Given the description of an element on the screen output the (x, y) to click on. 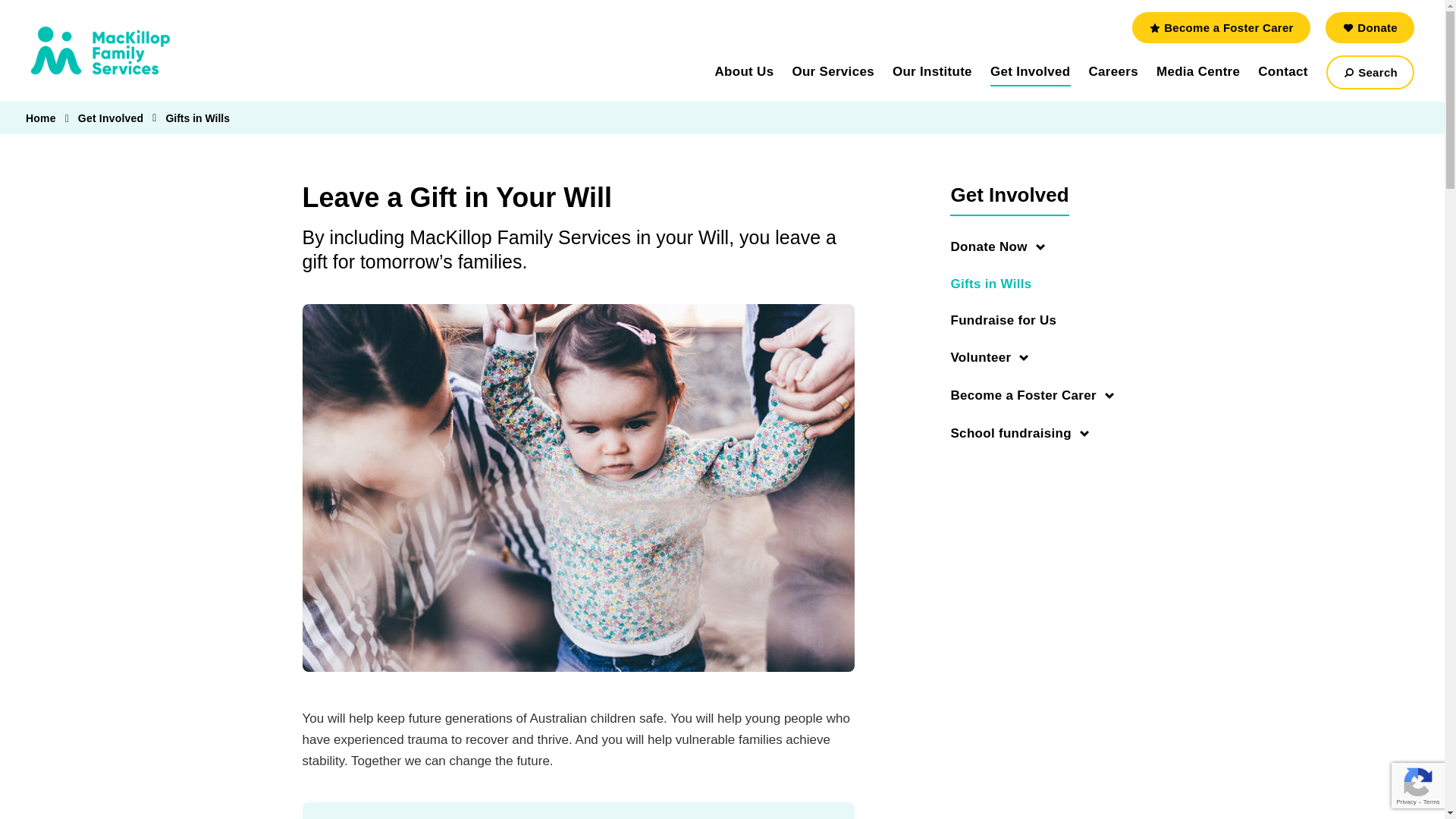
About Us (743, 71)
Become a Foster Carer (1221, 27)
Donate (1368, 27)
